Given the description of an element on the screen output the (x, y) to click on. 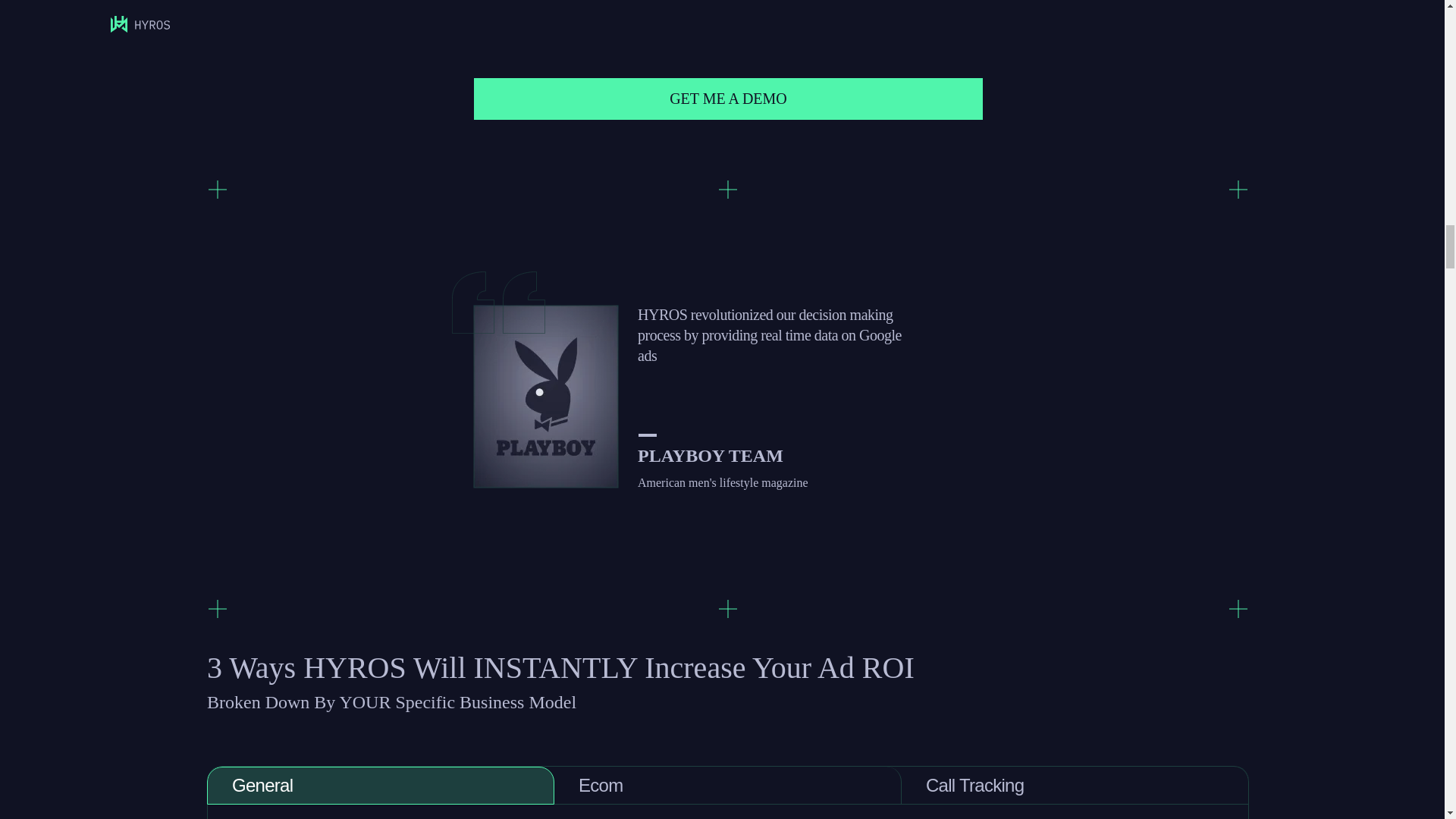
Call Tracking (1075, 785)
GET ME A DEMO (729, 98)
General (380, 785)
Ecom (727, 785)
